Given the description of an element on the screen output the (x, y) to click on. 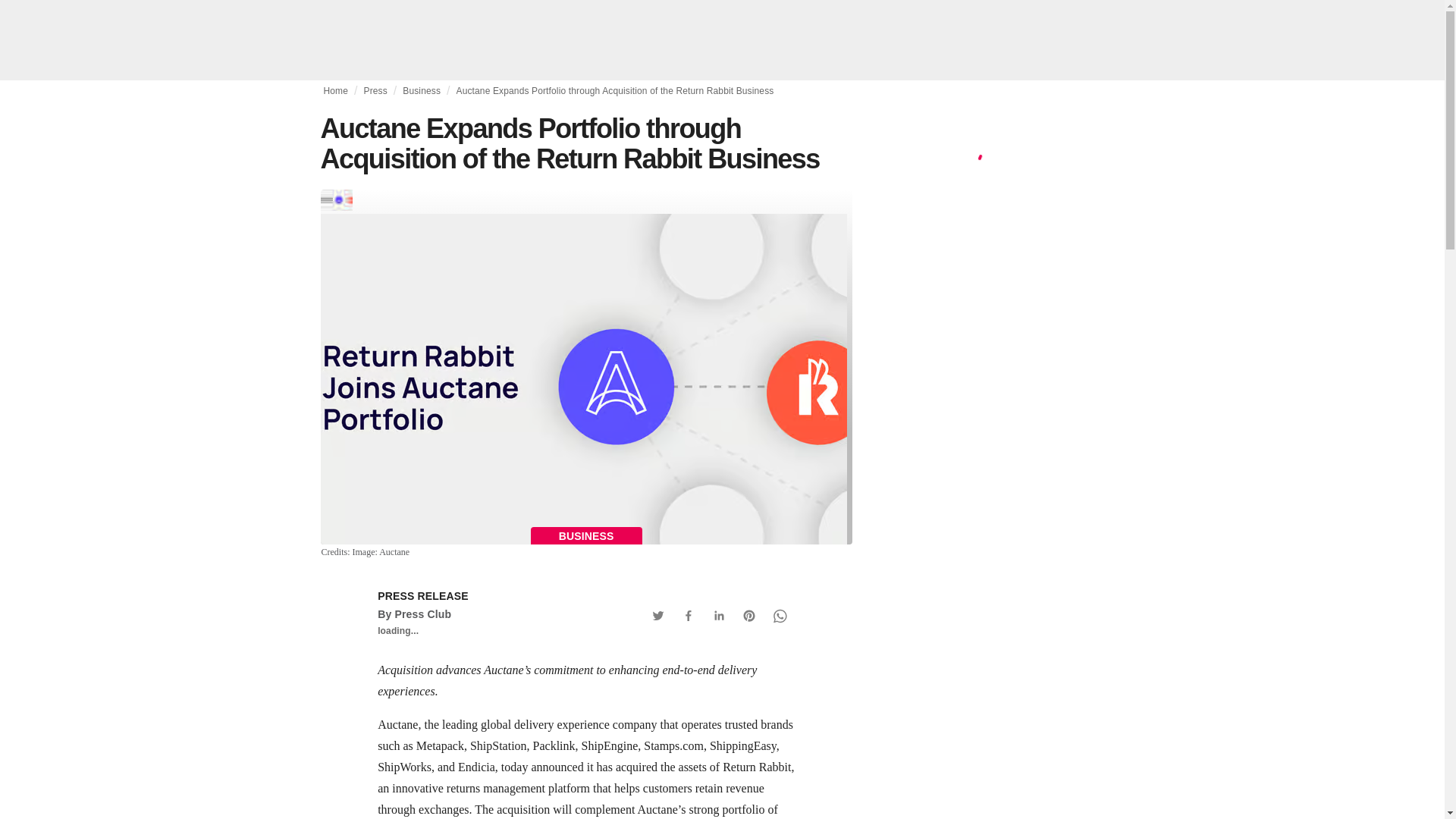
Press (375, 90)
Home (335, 90)
Business (422, 90)
By Press Club (414, 613)
